Given the description of an element on the screen output the (x, y) to click on. 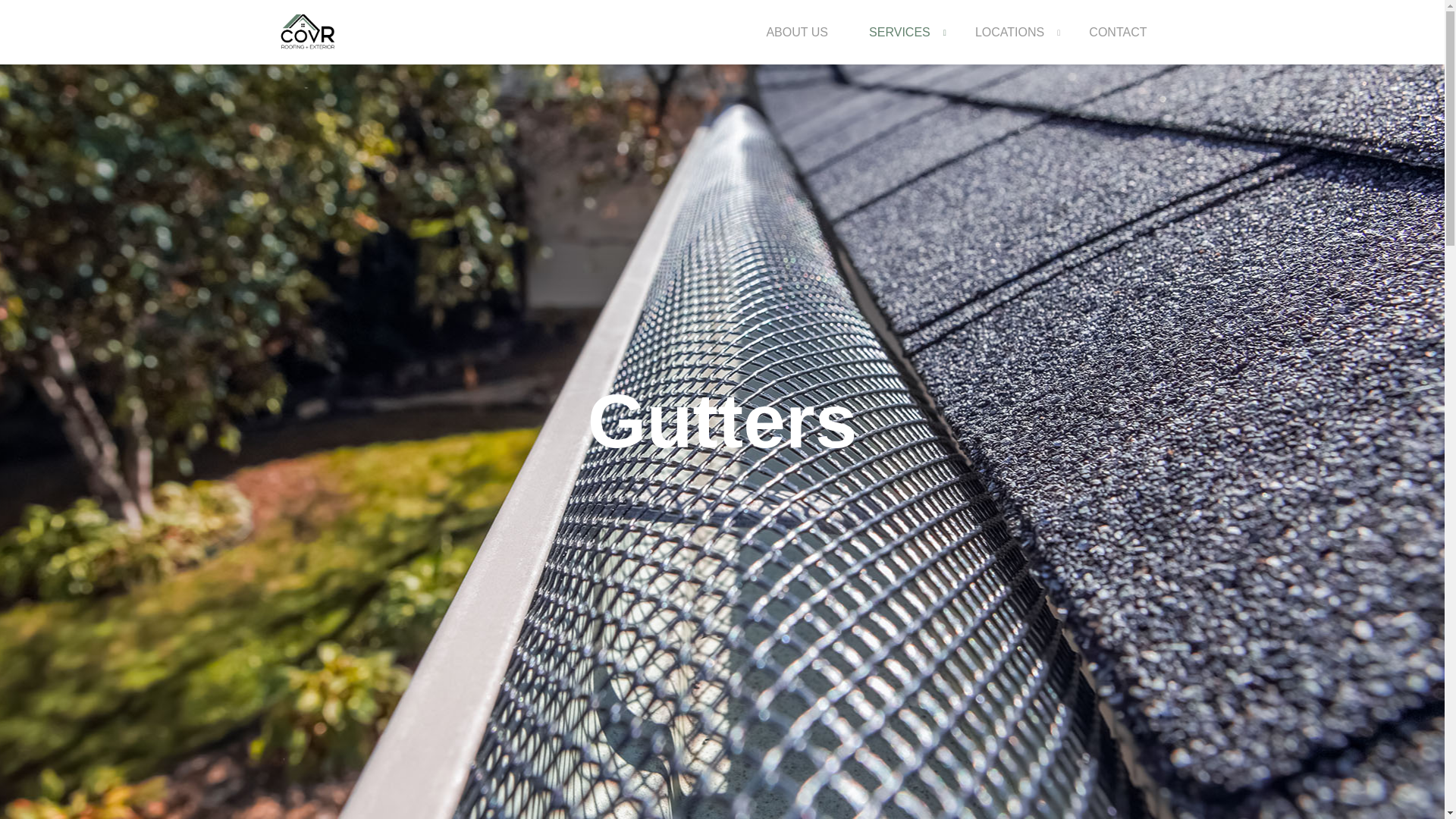
SERVICES (901, 43)
ABOUT US (796, 43)
CONTACT (1118, 43)
LOCATIONS (1011, 43)
